Given the description of an element on the screen output the (x, y) to click on. 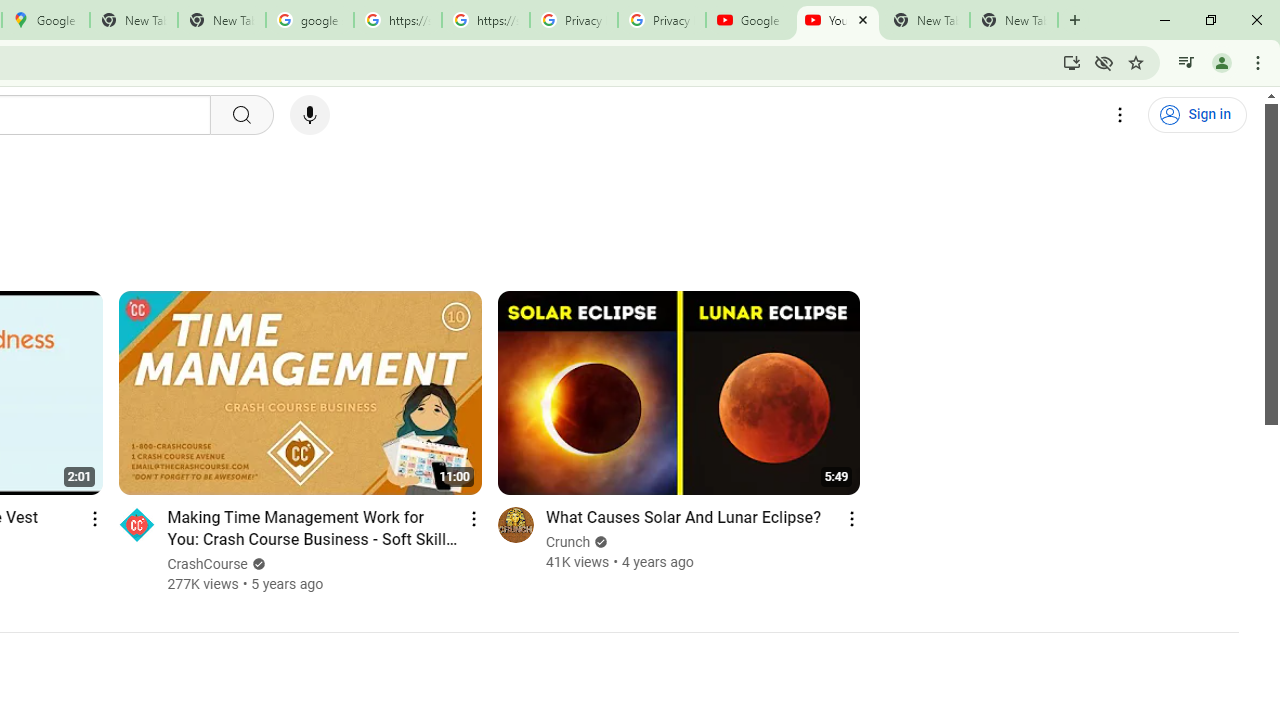
Search with your voice (309, 115)
New Tab (1014, 20)
CrashCourse (207, 564)
https://scholar.google.com/ (397, 20)
Control your music, videos, and more (1185, 62)
Settings (1119, 115)
Crunch (568, 542)
Verified (599, 542)
